Given the description of an element on the screen output the (x, y) to click on. 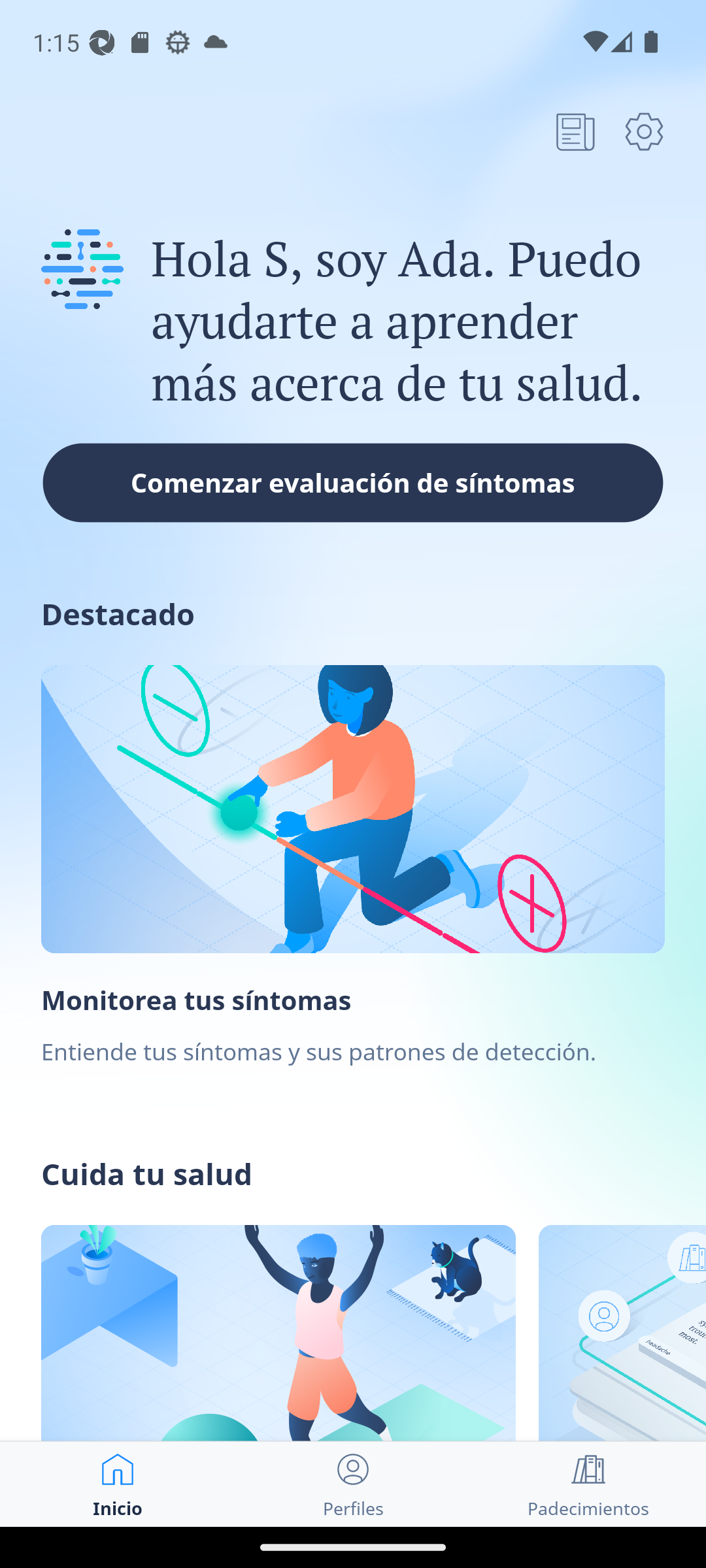
article icon , open articles (574, 131)
settings icon, open settings (644, 131)
Comenzar evaluación de síntomas (352, 482)
Inicio (117, 1484)
Perfiles (352, 1484)
Padecimientos (588, 1484)
